Given the description of an element on the screen output the (x, y) to click on. 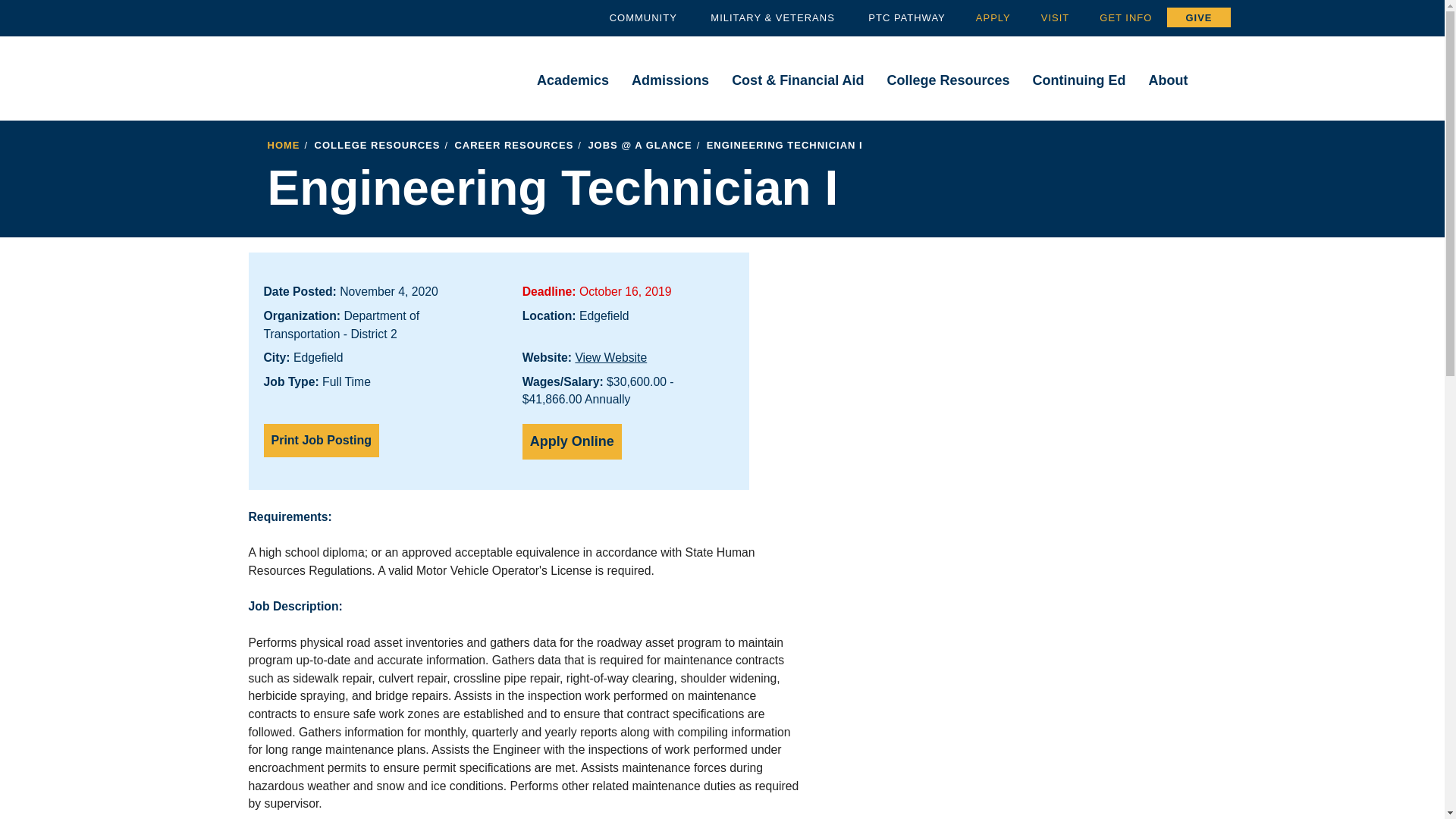
GIVE (1198, 17)
VISIT (1055, 18)
Piedmont Technical College (306, 69)
GET INFO (1125, 18)
COMMUNITY (643, 18)
PTC PATHWAY (906, 18)
Apply to PTC (993, 18)
Academics (572, 81)
APPLY (993, 18)
